Given the description of an element on the screen output the (x, y) to click on. 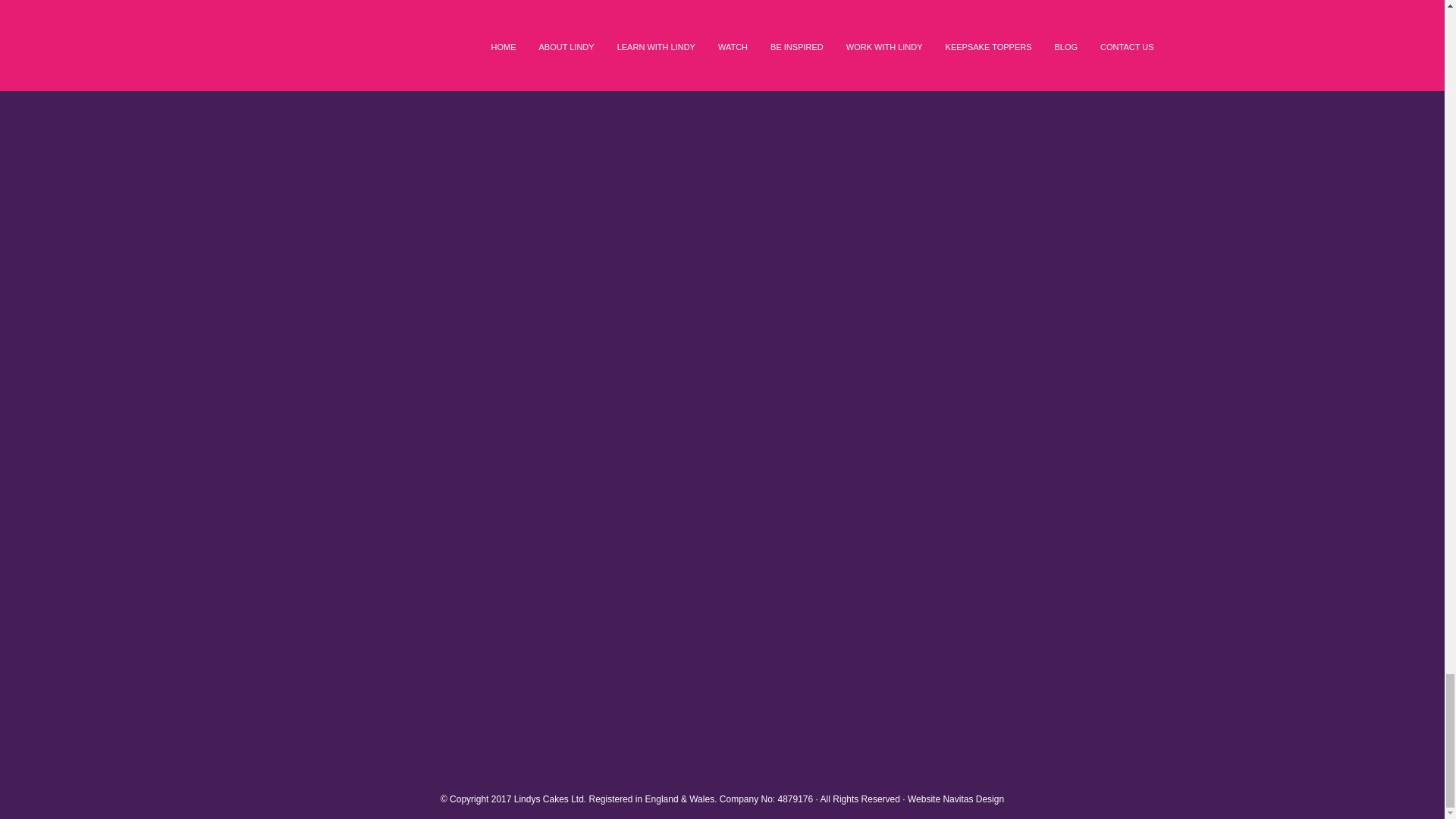
Twitter (349, 533)
YouTube (349, 653)
Pinterest (349, 414)
Instagram (349, 176)
Facebook (349, 56)
LinkedIn (349, 295)
